Given the description of an element on the screen output the (x, y) to click on. 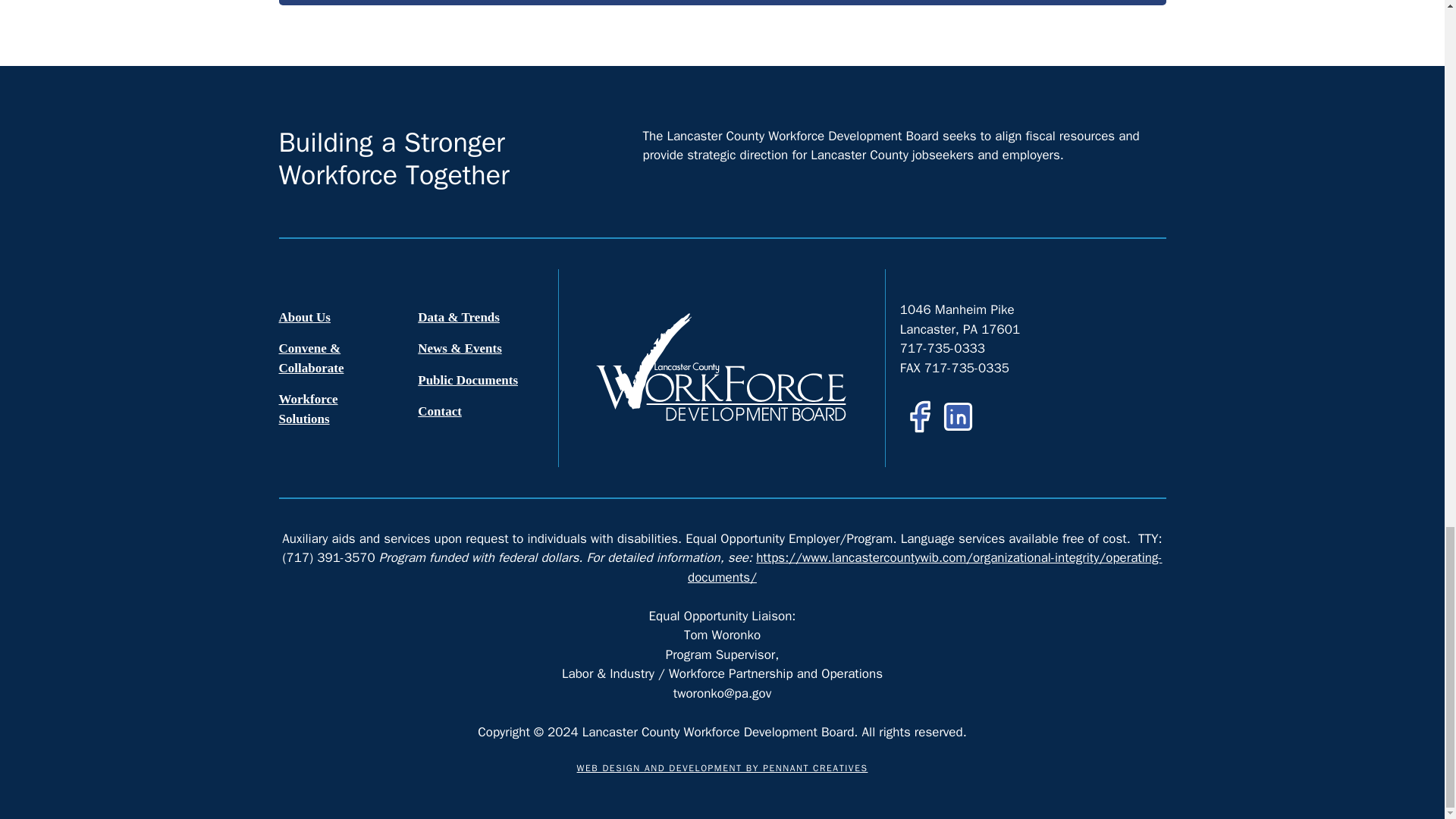
Workforce Solutions (342, 409)
WEB DESIGN AND DEVELOPMENT BY PENNANT CREATIVES (721, 767)
About Us (342, 317)
Public Documents (480, 380)
Contact (480, 411)
